Given the description of an element on the screen output the (x, y) to click on. 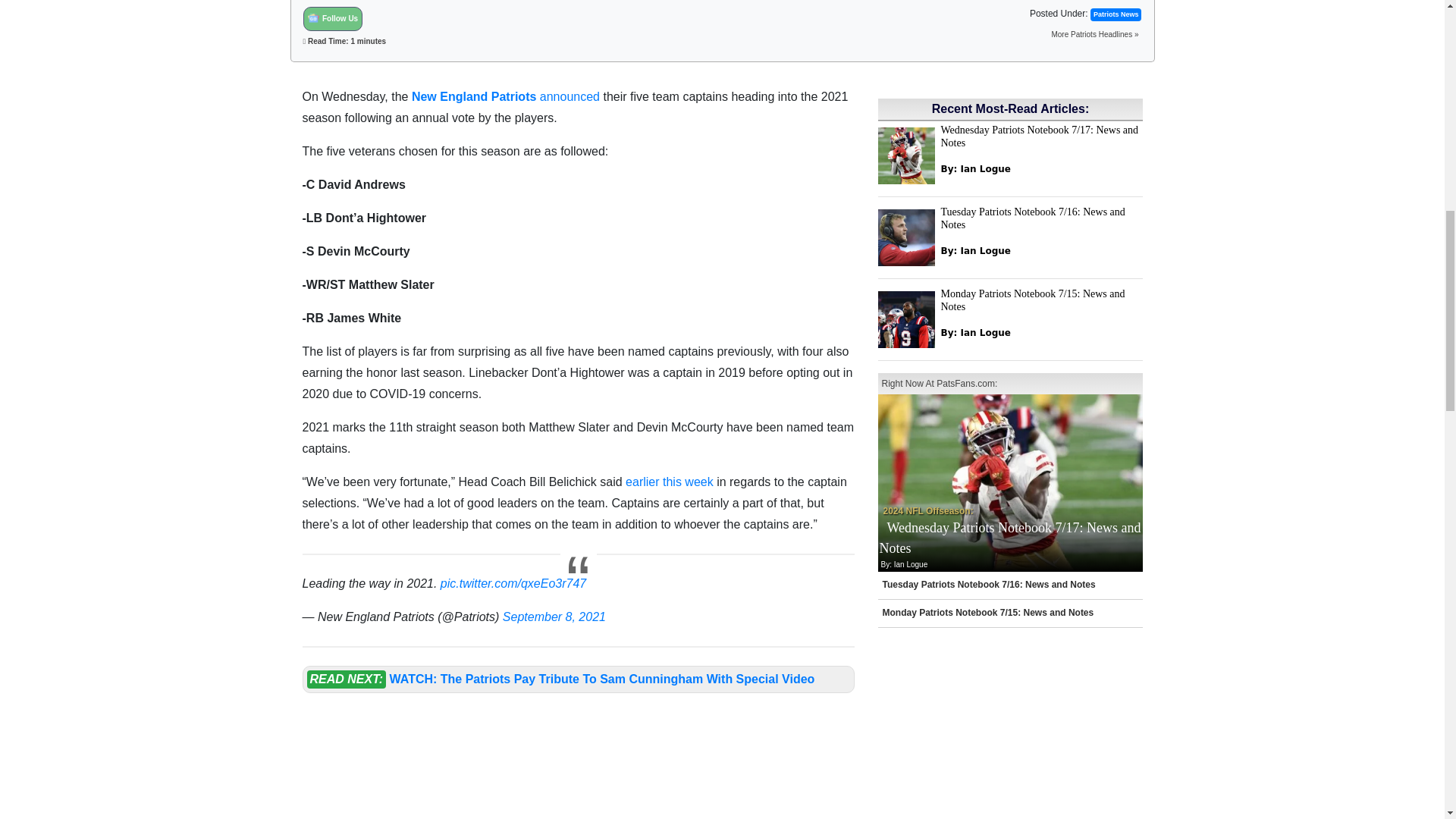
New England Patriots at PatsFans.com (473, 96)
